Given the description of an element on the screen output the (x, y) to click on. 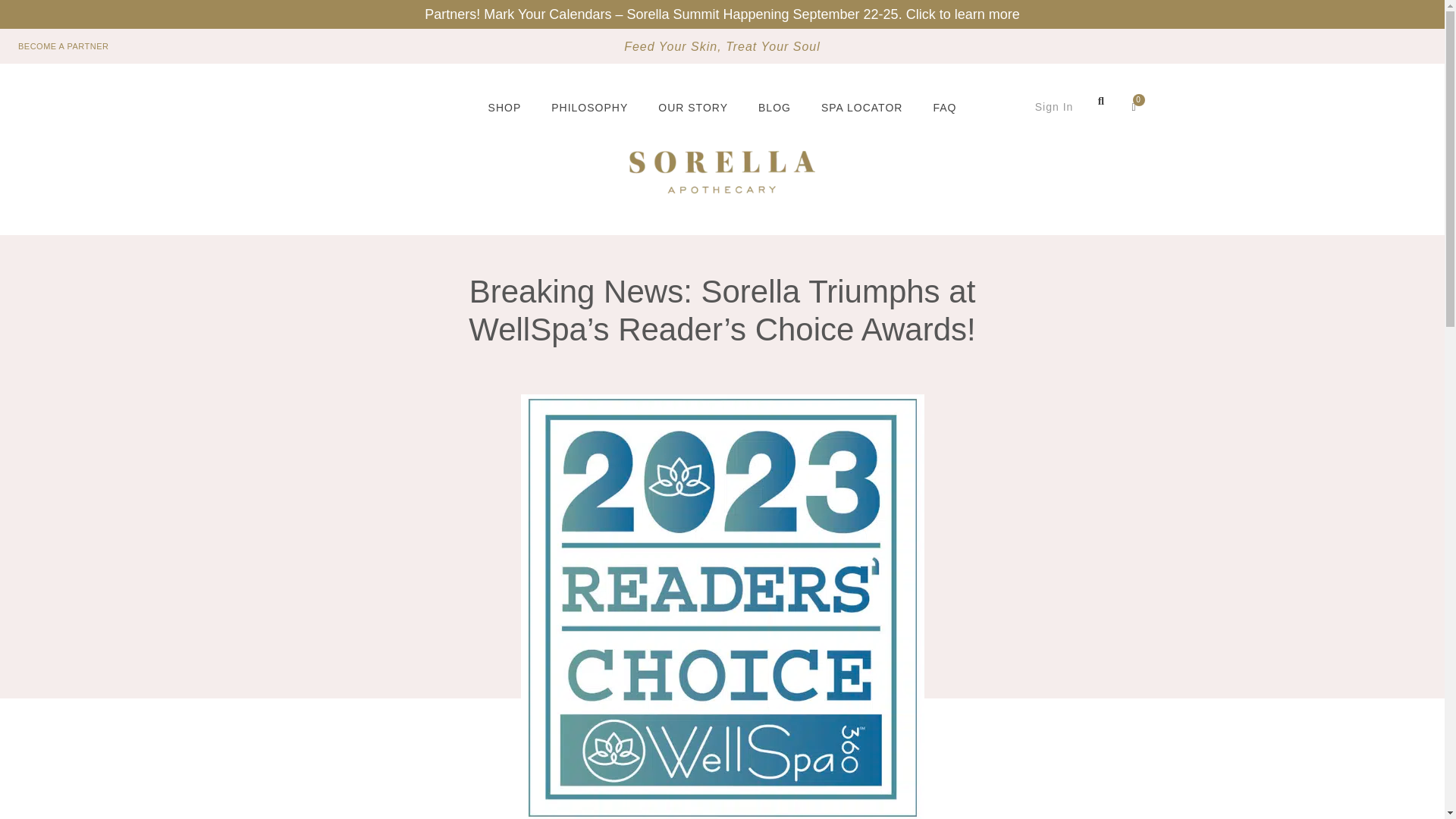
PHILOSOPHY (589, 106)
BECOME A PARTNER (63, 46)
0 (1133, 106)
BLOG (774, 106)
SPA LOCATOR (861, 106)
Feed Your Skin, Treat Your Soul (721, 46)
SHOP (505, 106)
Sign In (1054, 106)
OUR STORY (692, 106)
